Given the description of an element on the screen output the (x, y) to click on. 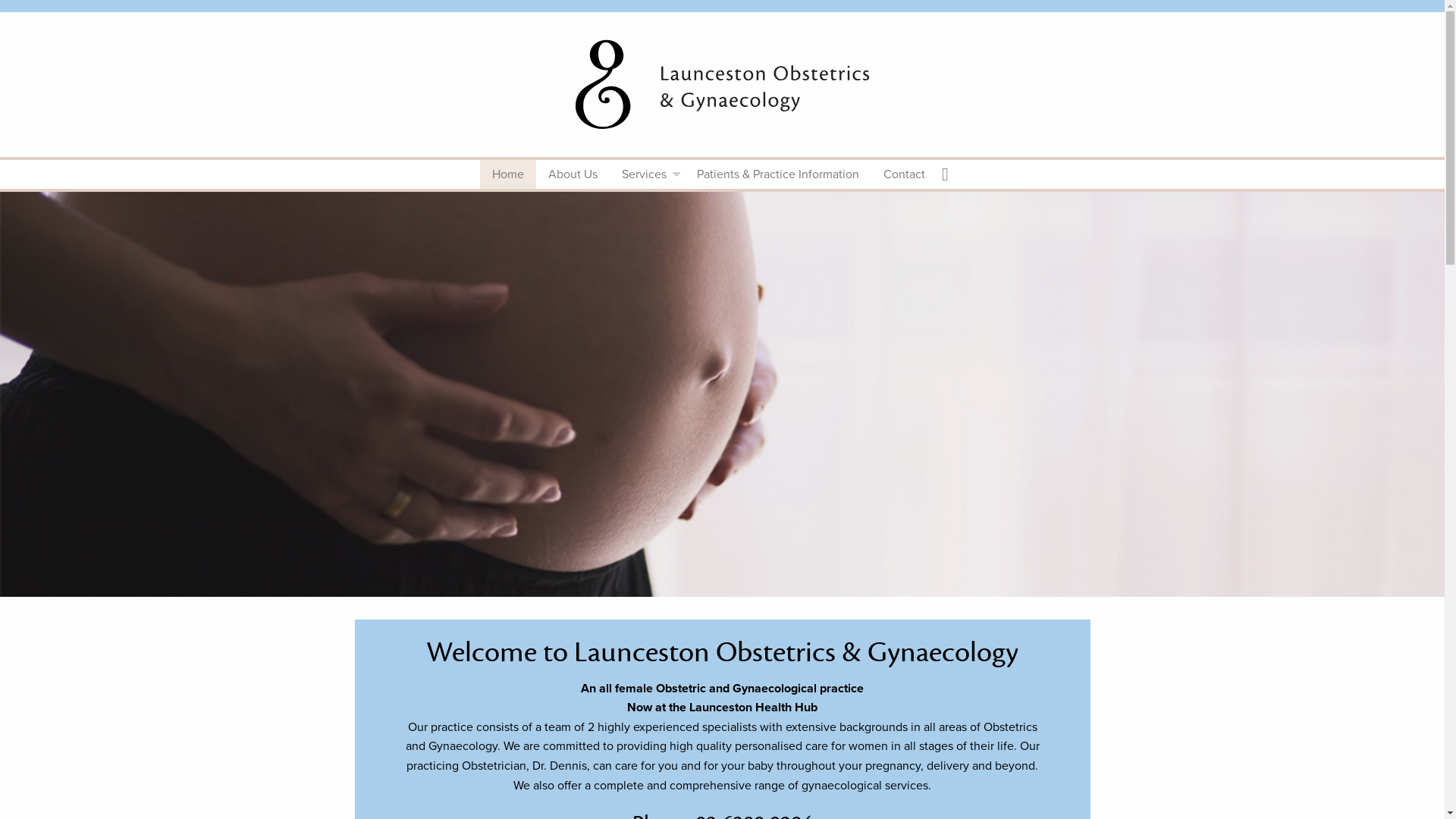
About Us Element type: text (572, 174)
Patients & Practice Information Element type: text (777, 174)
Home Element type: text (508, 174)
Contact Element type: text (904, 174)
Launceston Obstetrics and Gynaecology - Home Page Element type: hover (721, 81)
Facebook Element type: text (950, 174)
Services Element type: text (646, 174)
